Given the description of an element on the screen output the (x, y) to click on. 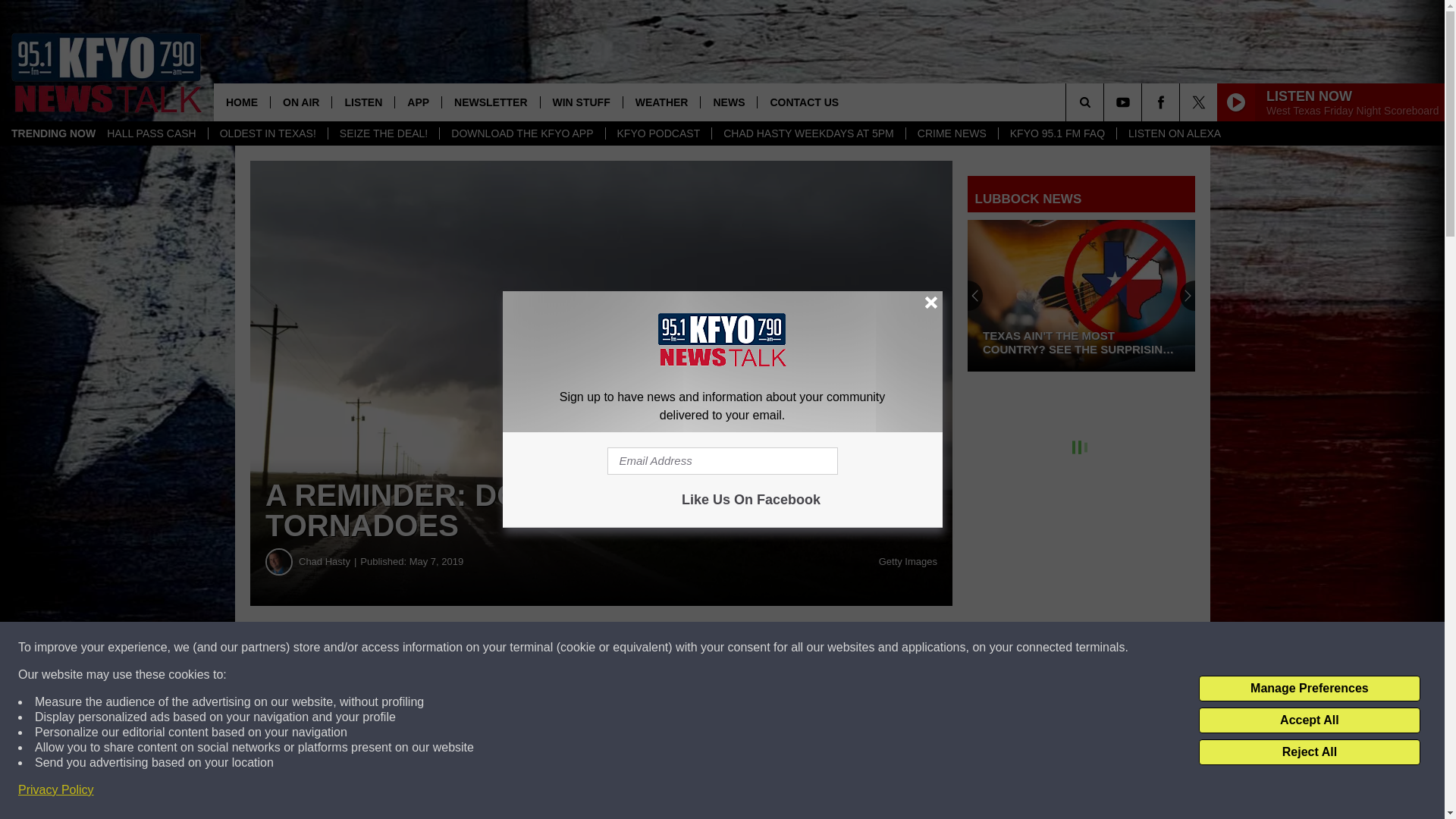
CHAD HASTY WEEKDAYS AT 5PM (808, 133)
LISTEN ON ALEXA (1173, 133)
Share on Twitter (741, 647)
DOWNLOAD THE KFYO APP (521, 133)
SEARCH (1106, 102)
SEIZE THE DEAL! (383, 133)
ON AIR (300, 102)
KFYO 95.1 FM FAQ (1056, 133)
LISTEN (362, 102)
OLDEST IN TEXAS! (267, 133)
HOME (241, 102)
Accept All (1309, 720)
KFYO PODCAST (658, 133)
Email Address (722, 461)
CRIME NEWS (951, 133)
